Given the description of an element on the screen output the (x, y) to click on. 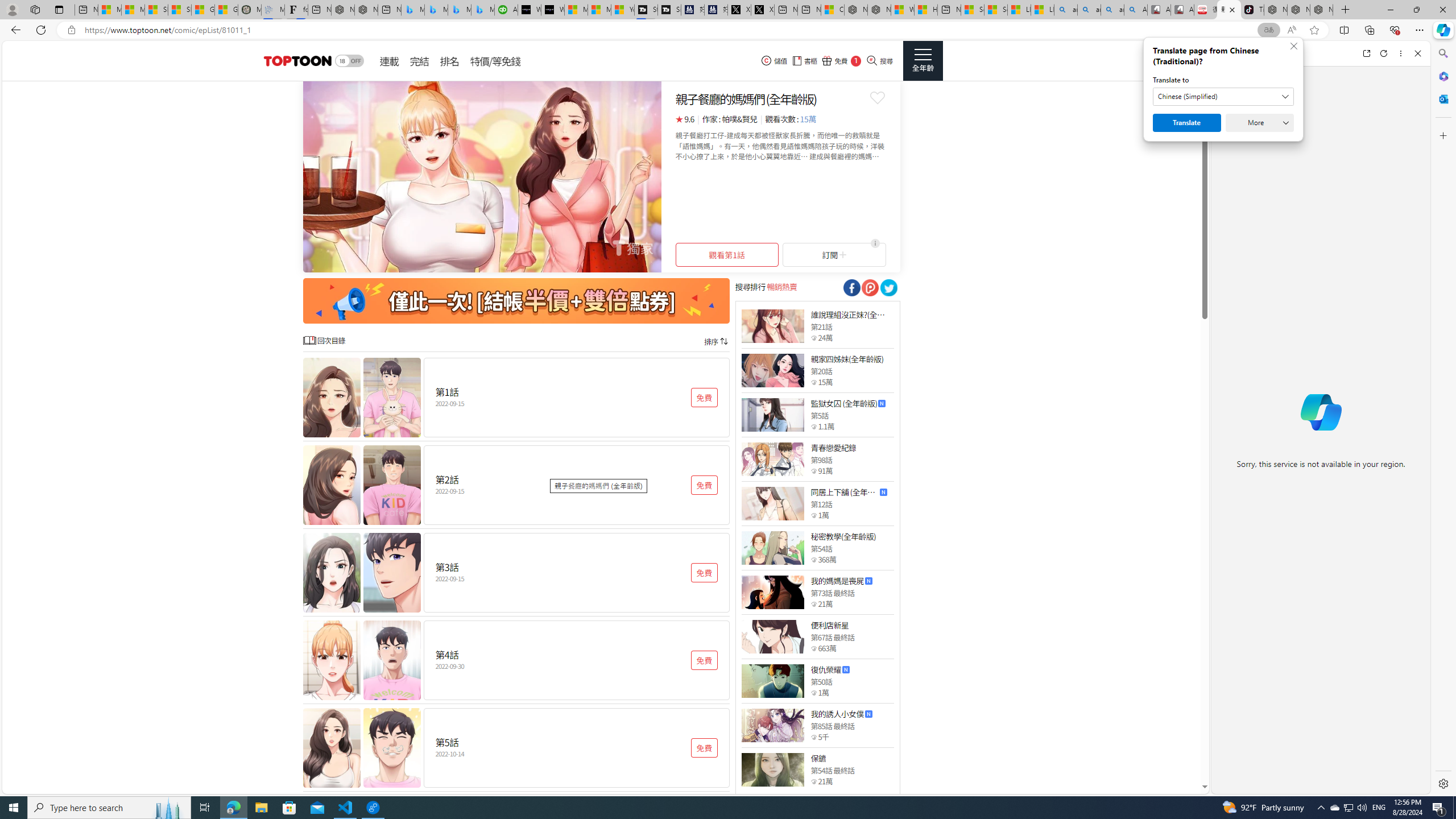
Nordace - Siena Pro 15 Essential Set (1321, 9)
Microsoft Bing Travel - Shangri-La Hotel Bangkok (482, 9)
amazon - Search (1089, 9)
Class: side_menu_btn actionRightMenuBtn (922, 60)
